Given the description of an element on the screen output the (x, y) to click on. 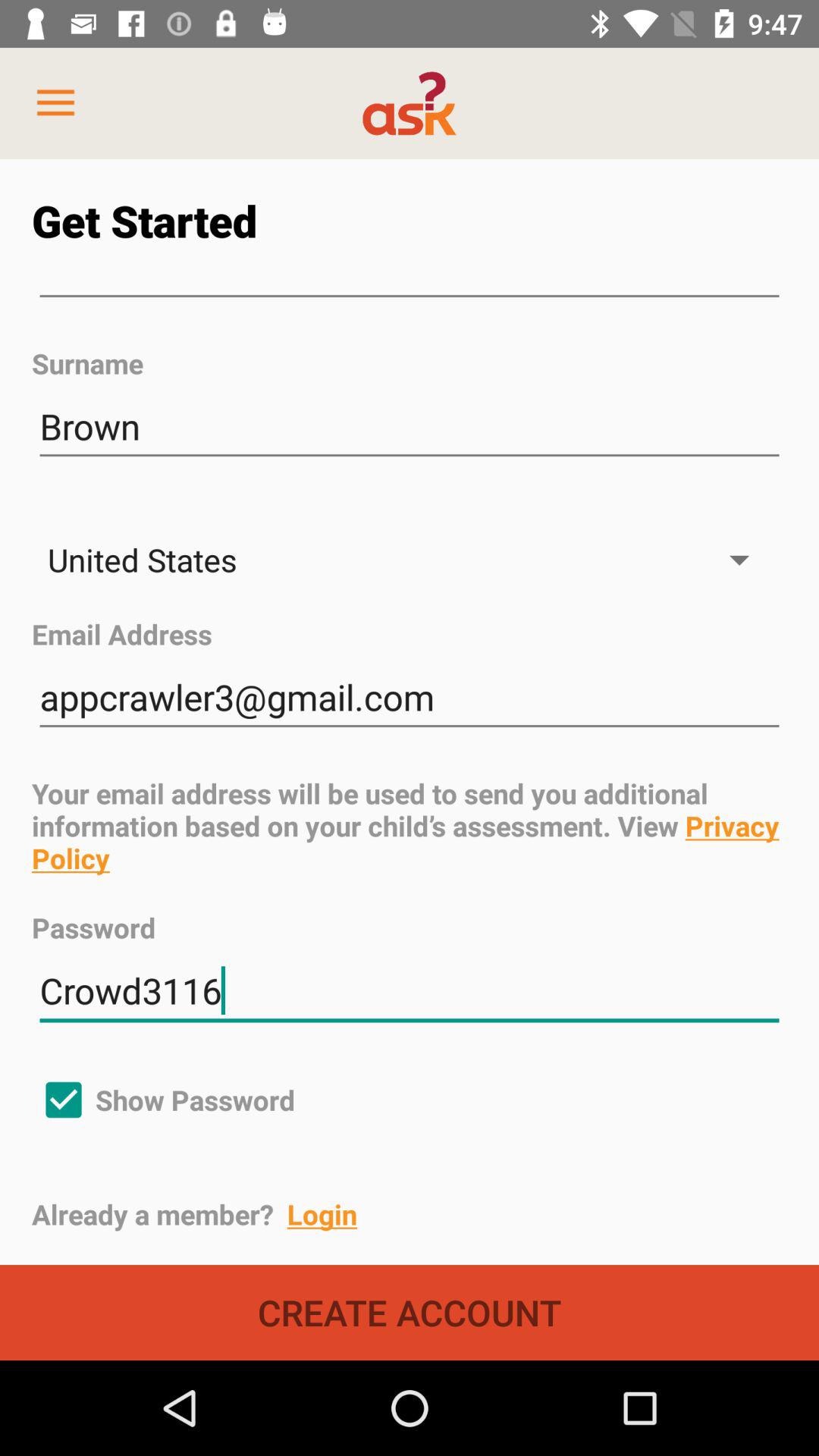
open icon above the surname item (409, 296)
